Given the description of an element on the screen output the (x, y) to click on. 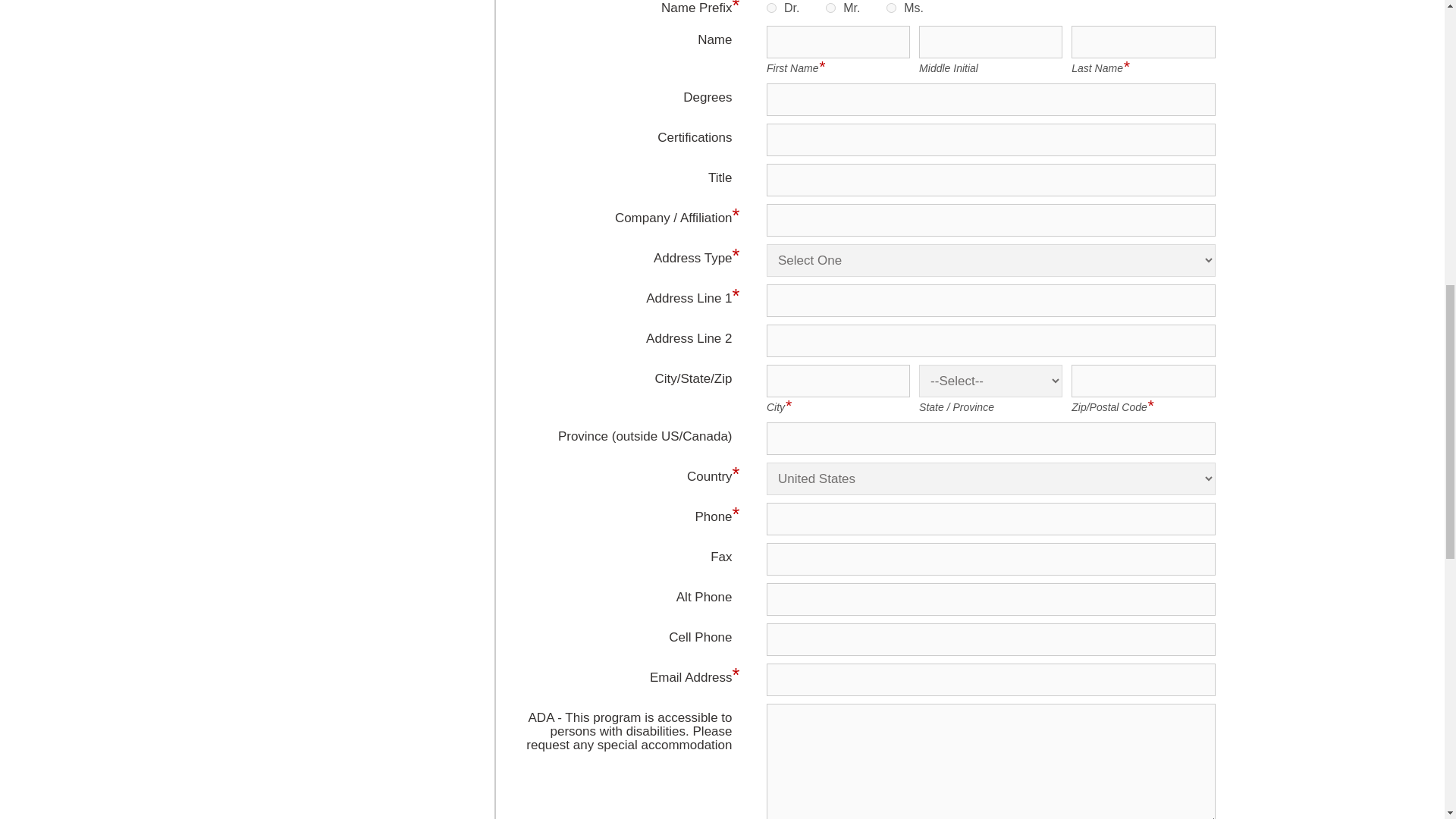
900 (771, 8)
902 (891, 8)
901 (830, 8)
